Given the description of an element on the screen output the (x, y) to click on. 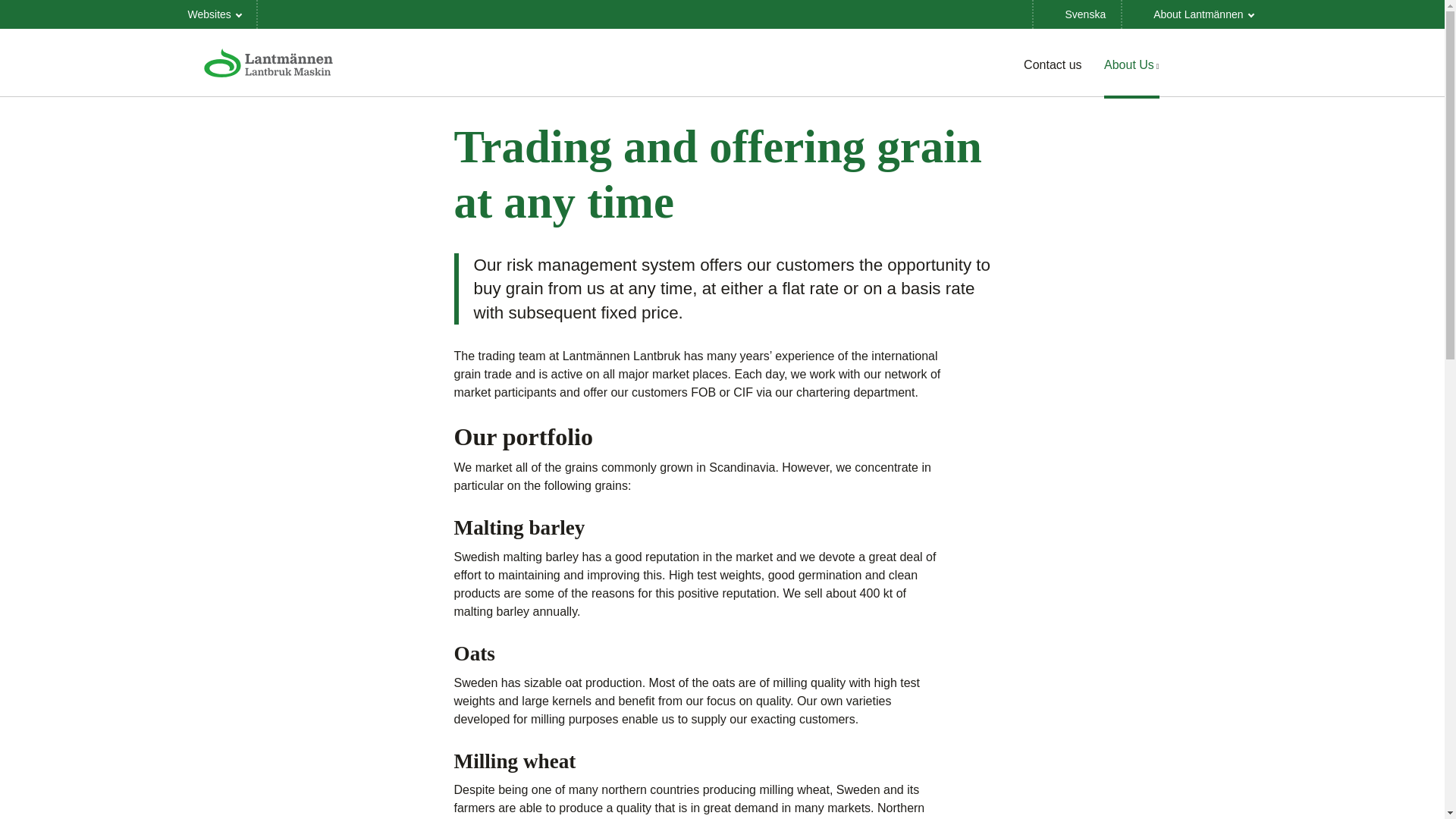
Svenska (1077, 14)
browse (216, 14)
Contact us (1052, 64)
language (1077, 14)
About Us (1130, 64)
Websites (216, 14)
Search (1239, 64)
about (1195, 14)
